Given the description of an element on the screen output the (x, y) to click on. 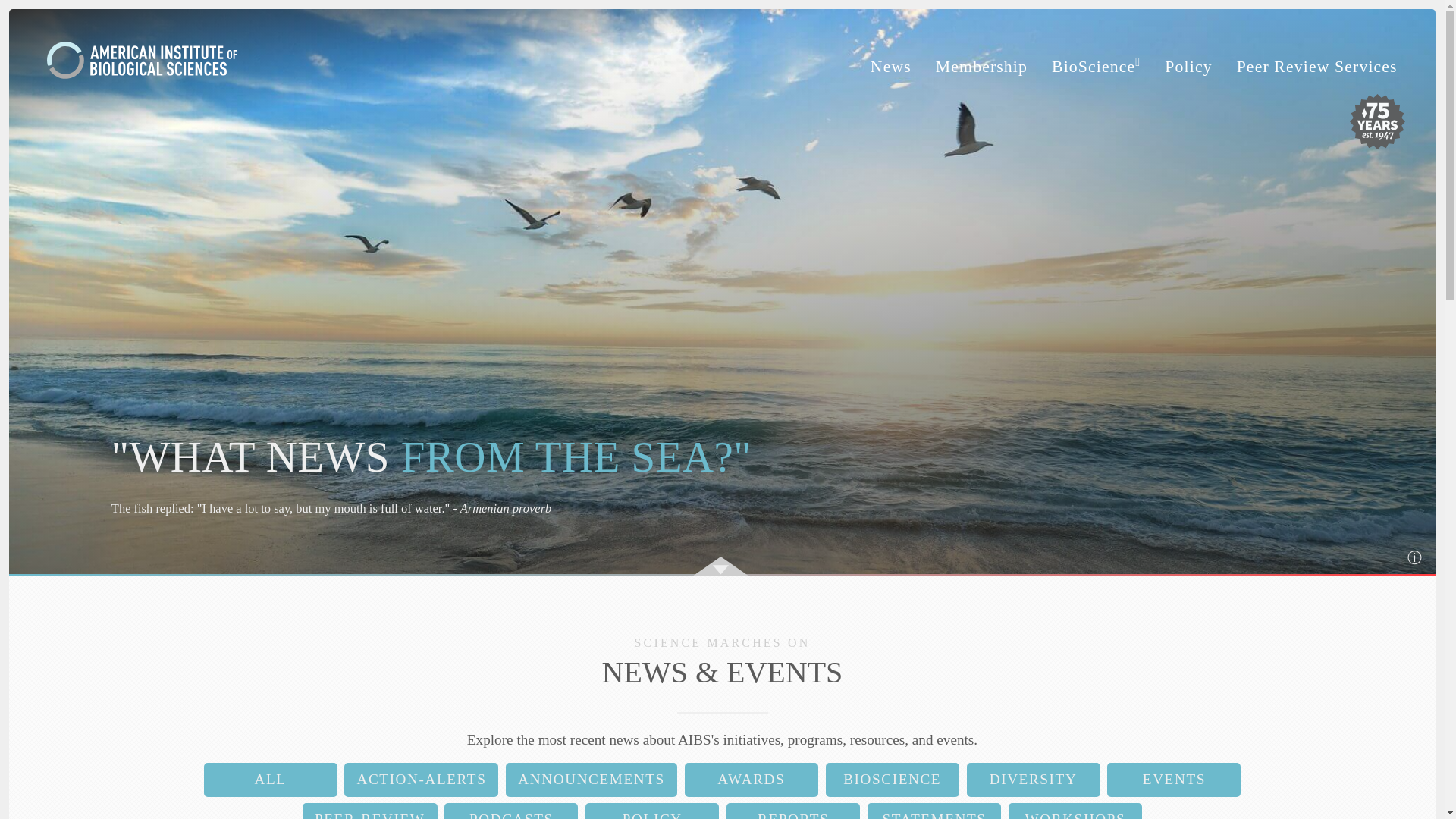
ACTION-ALERTS (420, 779)
STATEMENTS (934, 811)
BIOSCIENCE (892, 779)
WORKSHOPS (1075, 811)
ALL (270, 779)
Peer Review Services (1316, 66)
Policy (1187, 66)
PODCASTS (511, 811)
Membership (981, 66)
REPORTS (793, 811)
